Given the description of an element on the screen output the (x, y) to click on. 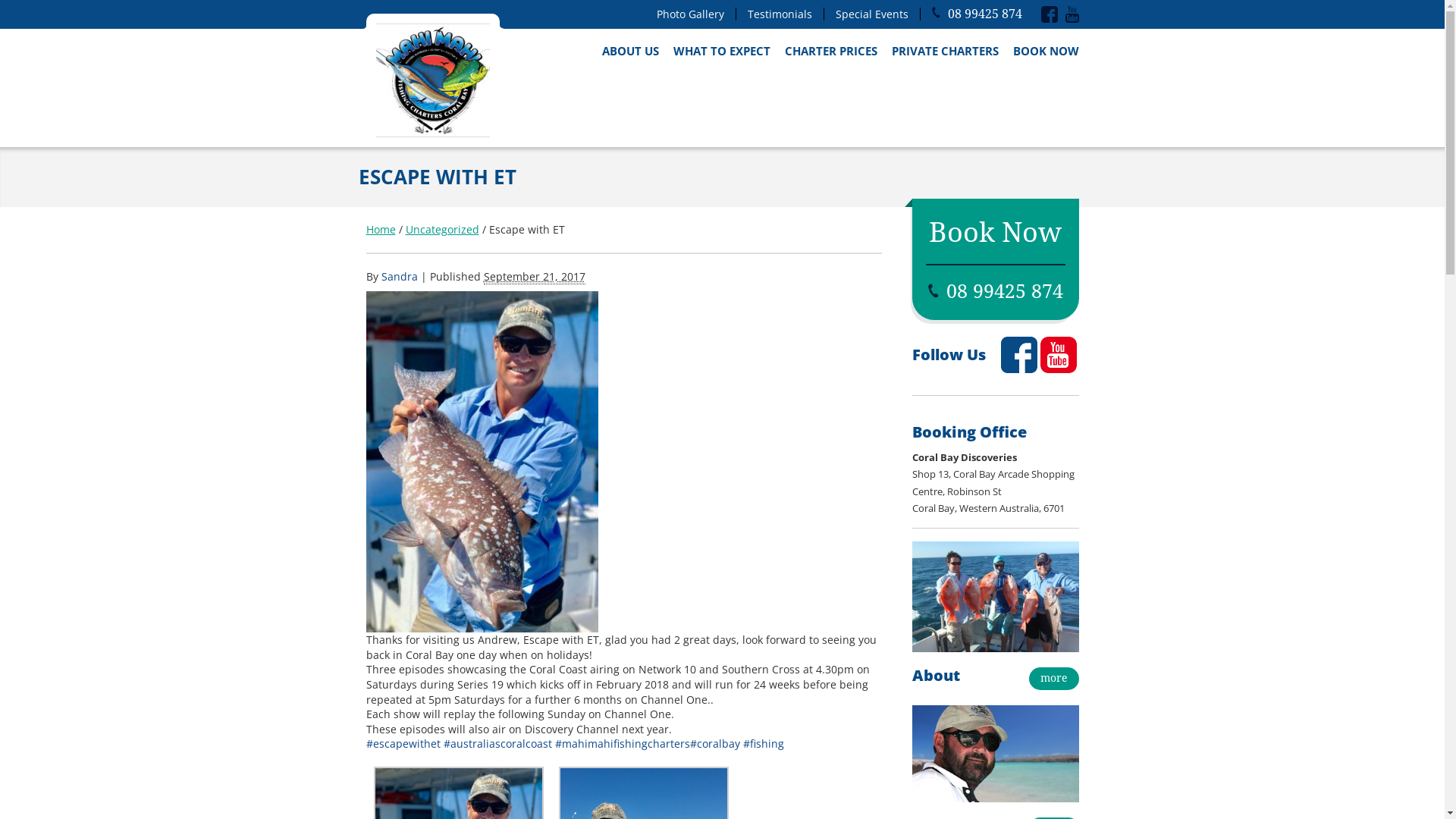
WHAT TO EXPECT Element type: text (721, 50)
PRIVATE CHARTERS Element type: text (944, 50)
#mahimahifishingcharters Element type: text (622, 743)
oralcoast Element type: text (528, 743)
Photo Gallery Element type: text (695, 13)
#escapewithet Element type: text (402, 743)
Special Events Element type: text (877, 13)
Home Element type: text (380, 229)
#fishing Element type: text (763, 743)
ABOUT US Element type: text (630, 50)
Uncategorized Element type: text (441, 229)
more Element type: text (1053, 678)
Testimonials Element type: text (785, 13)
CHARTER PRICES Element type: text (830, 50)
BOOK NOW Element type: text (1046, 50)
Book Now Element type: text (994, 232)
Sandra Element type: text (398, 276)
#australiasc Element type: text (473, 743)
#coralbay Element type: text (715, 743)
